Given the description of an element on the screen output the (x, y) to click on. 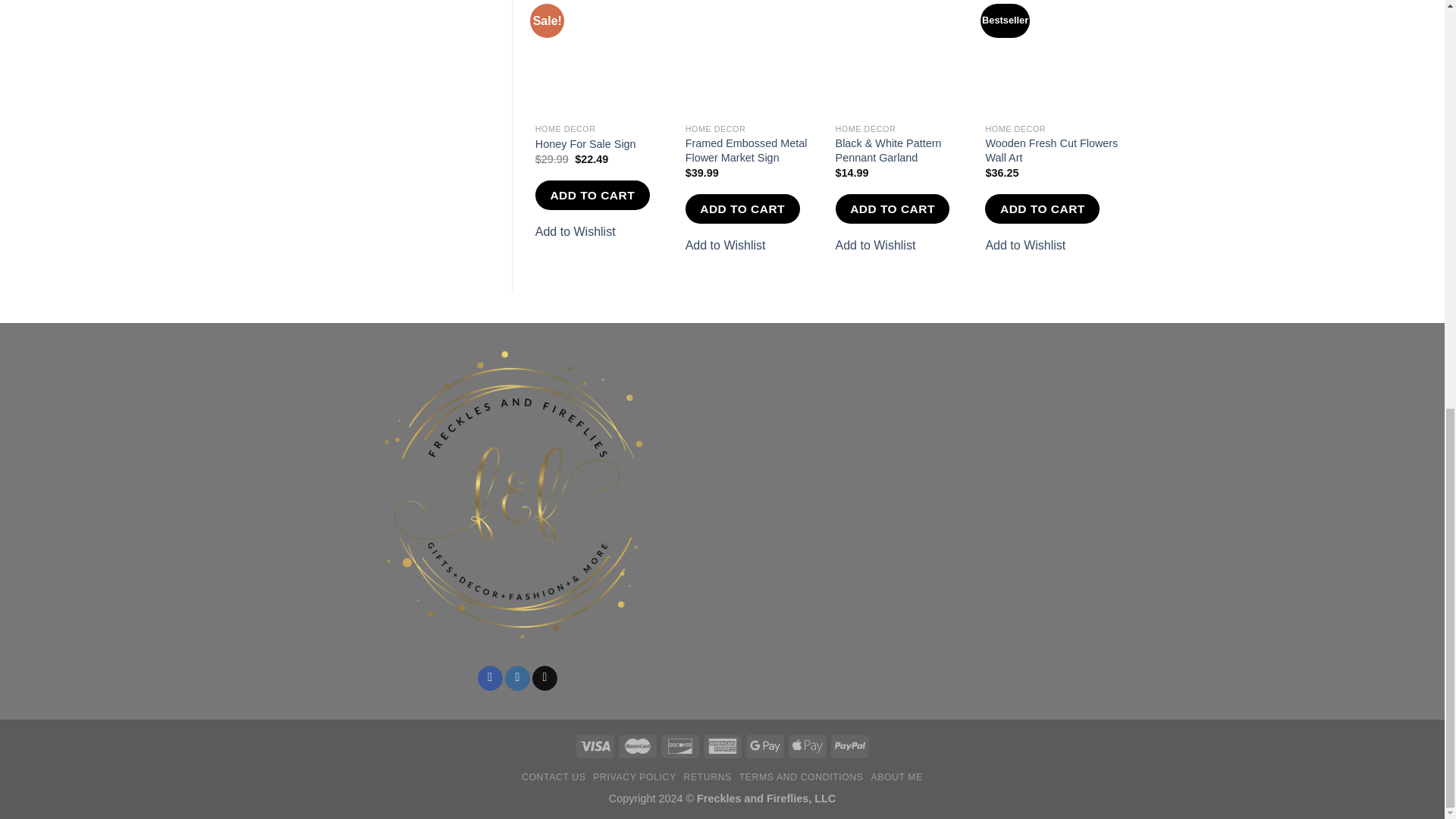
Follow on Facebook (489, 678)
Follow on Instagram (517, 678)
